Given the description of an element on the screen output the (x, y) to click on. 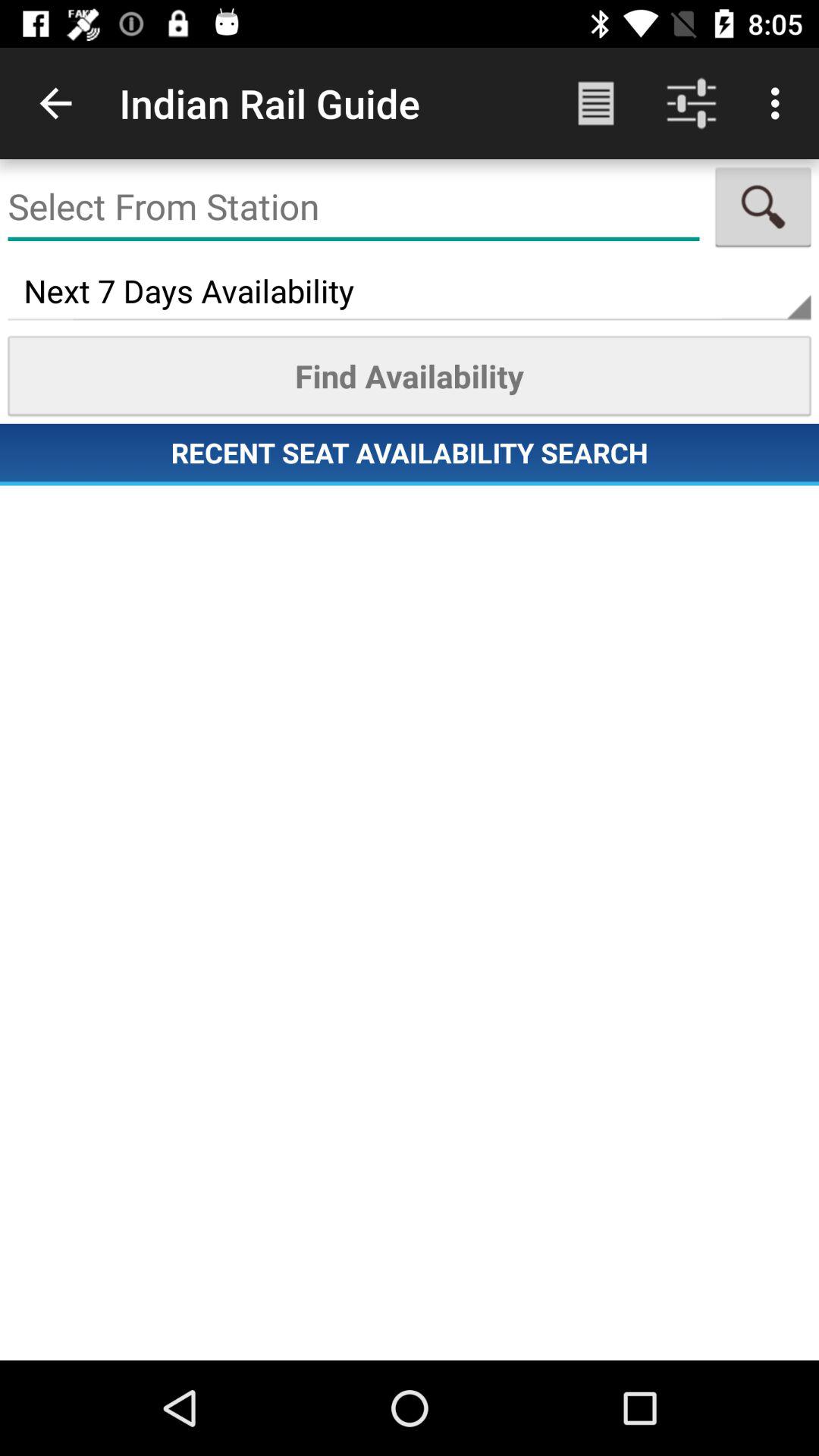
swipe to the find availability icon (409, 375)
